Given the description of an element on the screen output the (x, y) to click on. 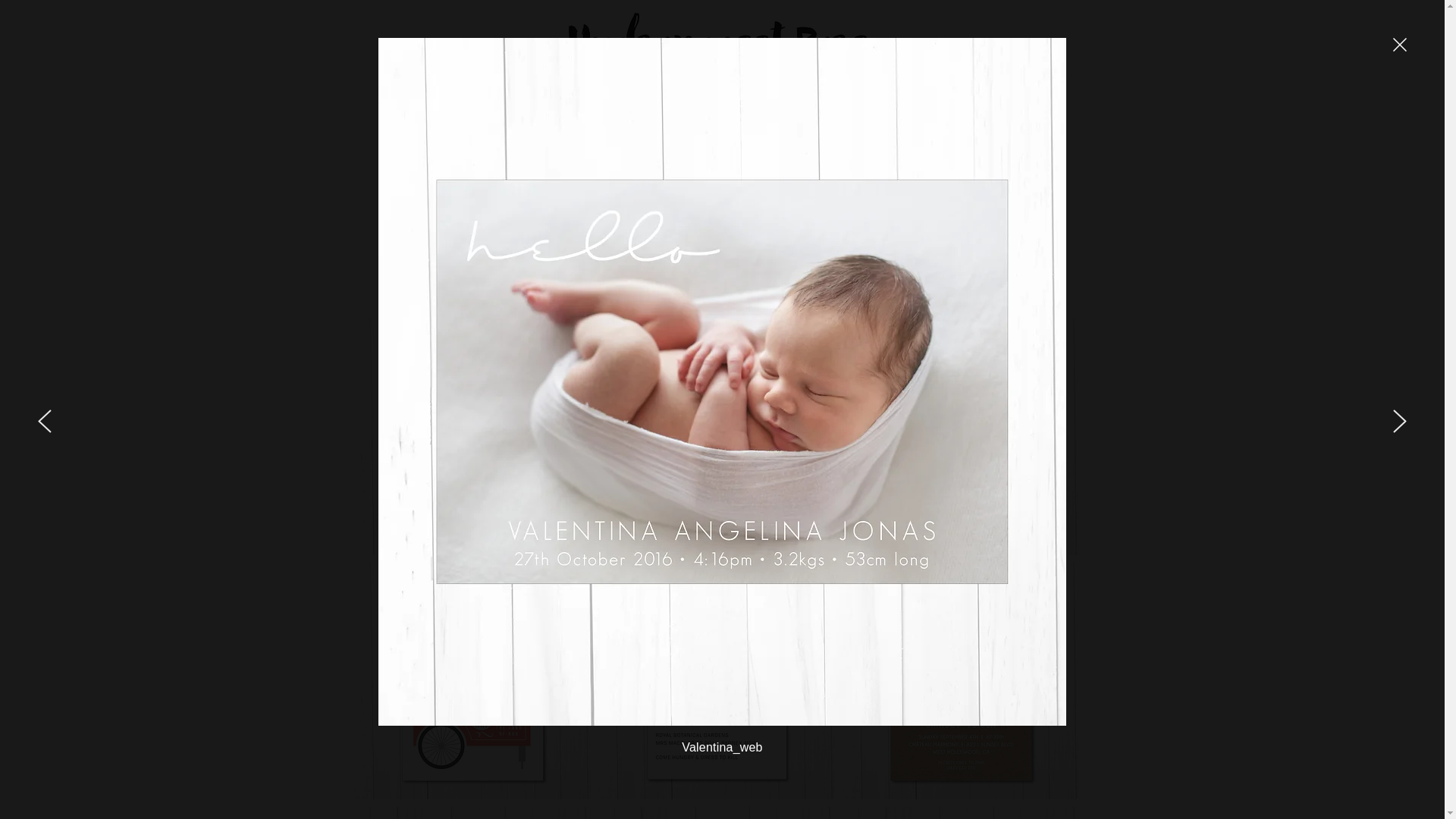
GREENVELOPE STORE Element type: text (718, 128)
MINTED STORE Element type: text (608, 128)
FAQs Element type: text (903, 128)
MEET THE TEAM Element type: text (830, 128)
ETSY SHOP Element type: text (523, 128)
HOME Element type: text (460, 128)
CONTACT US Element type: text (969, 128)
